Given the description of an element on the screen output the (x, y) to click on. 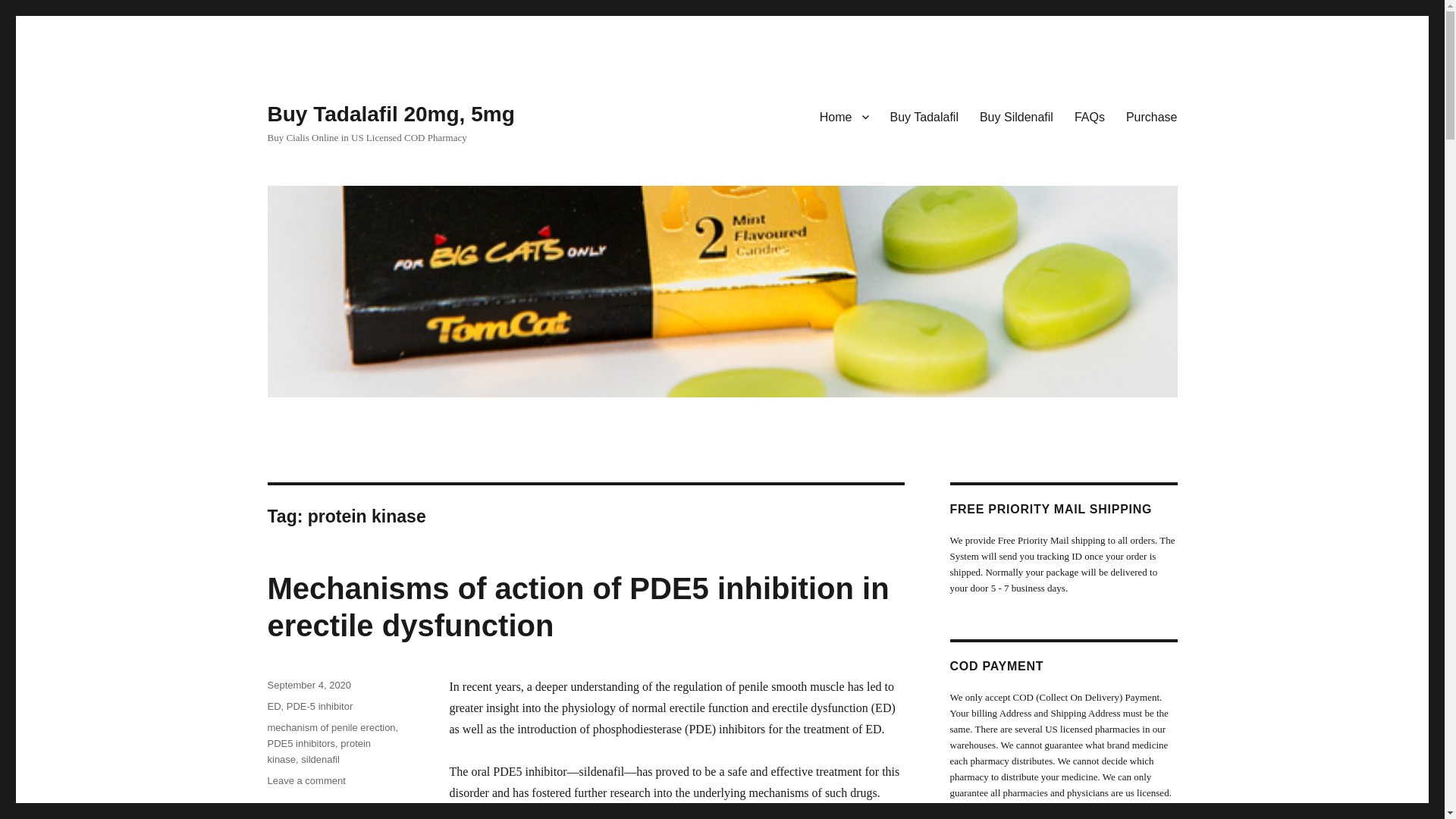
FAQs (1089, 116)
protein kinase (318, 750)
ED (273, 706)
sildenafil (320, 758)
Buy Tadalafil 20mg, 5mg (389, 114)
PDE-5 inhibitor (319, 706)
September 4, 2020 (308, 685)
Purchase (1151, 116)
PDE5 inhibitors (300, 743)
Buy Sildenafil (1016, 116)
Buy Tadalafil (924, 116)
Home (844, 116)
mechanism of penile erection (330, 727)
